Given the description of an element on the screen output the (x, y) to click on. 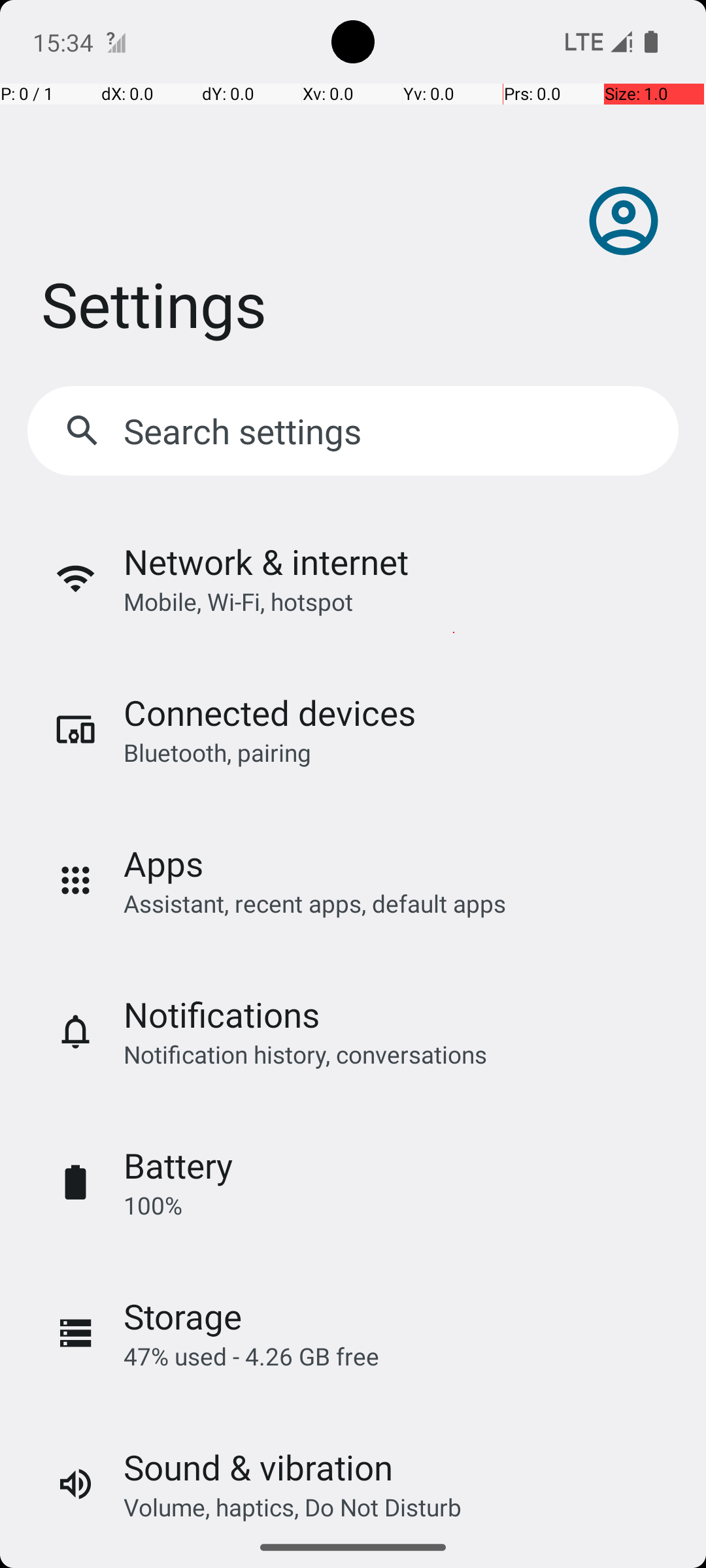
47% used - 4.26 GB free Element type: android.widget.TextView (251, 1355)
